Given the description of an element on the screen output the (x, y) to click on. 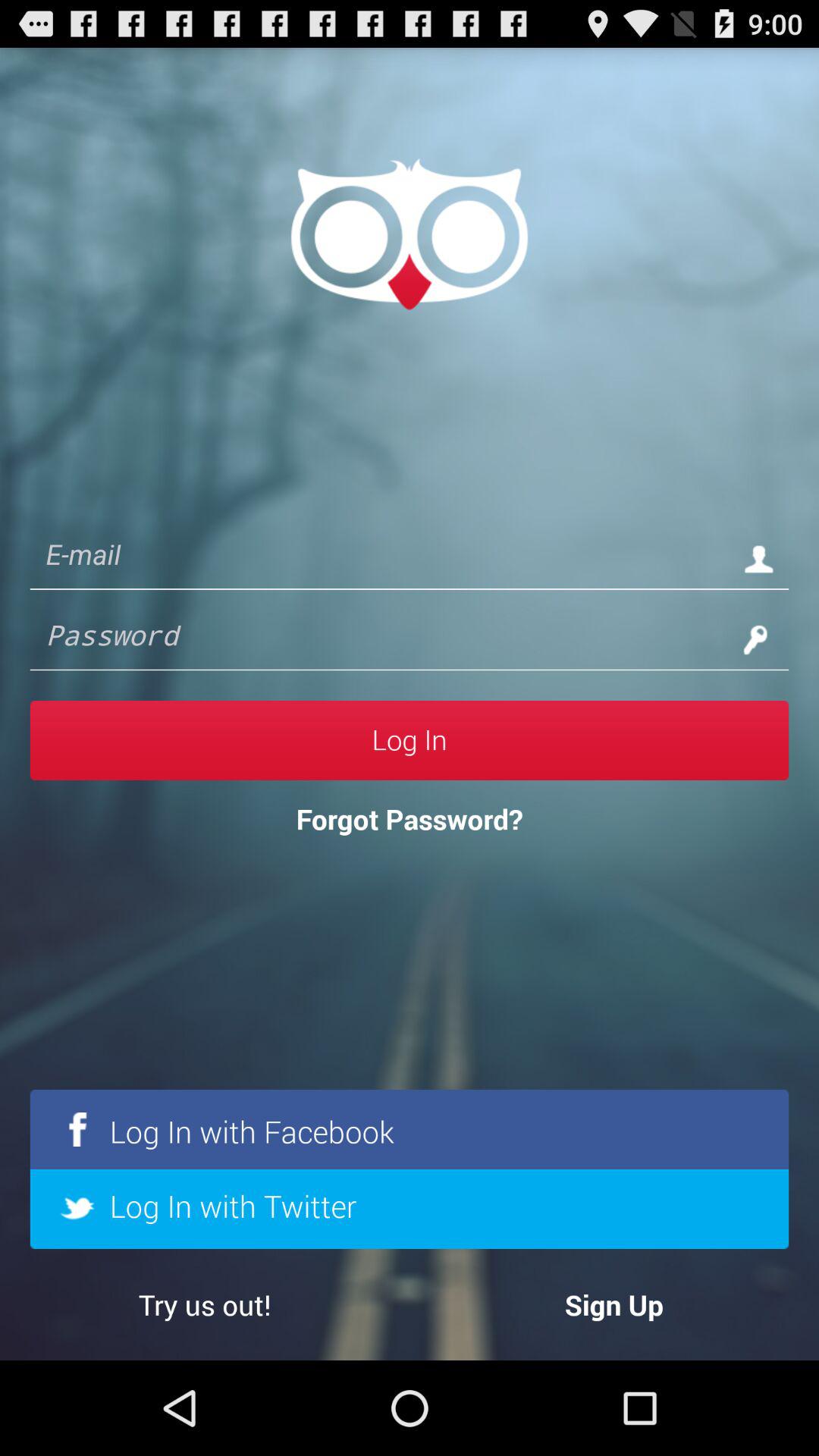
password coloumn (379, 639)
